Given the description of an element on the screen output the (x, y) to click on. 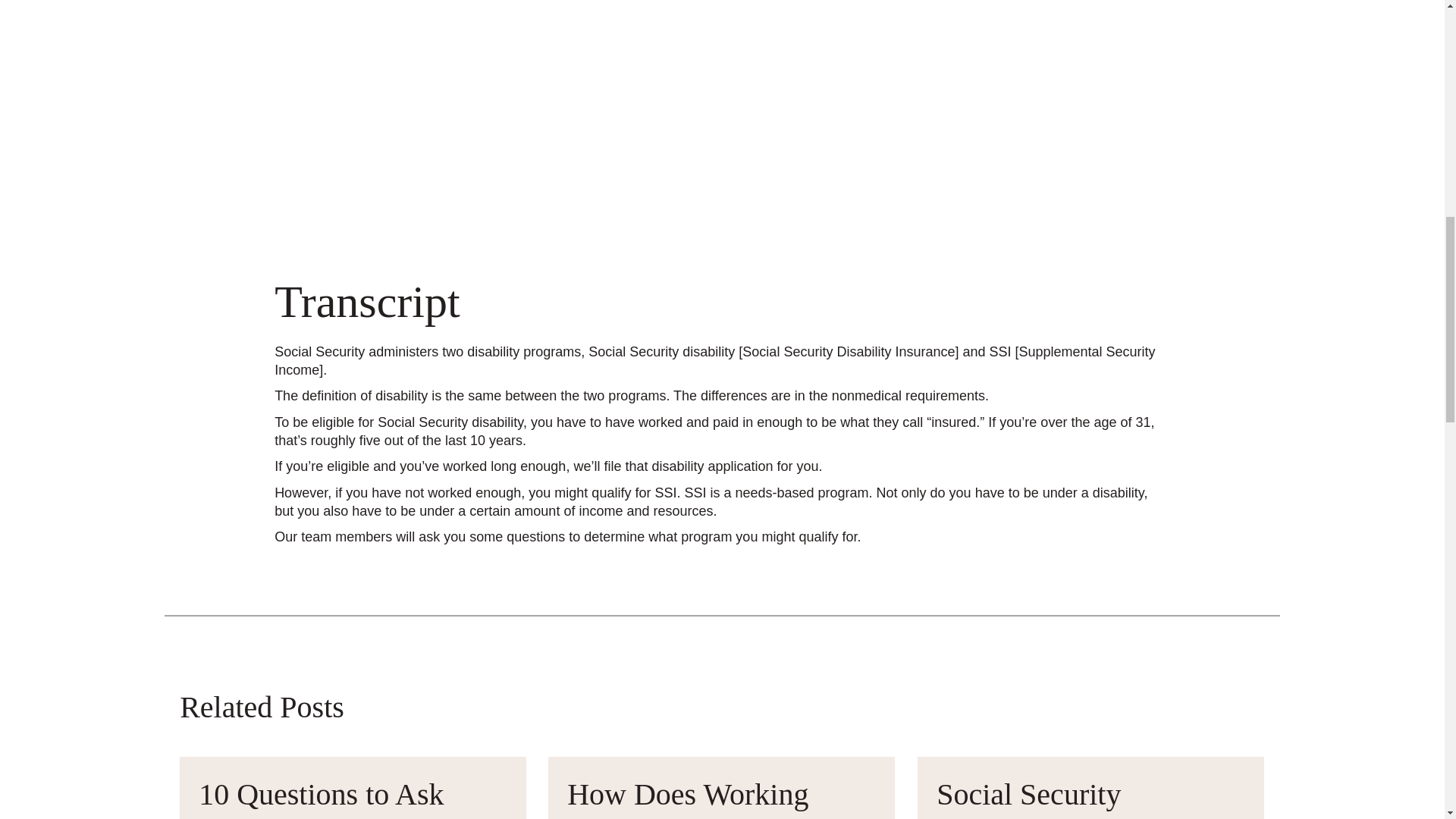
How Does Working Affect My Social Security Application? (699, 798)
10 Questions to Ask Your Social Security Disability Lawyer (323, 798)
10 Questions to Ask Your Social Security Disability Lawyer (323, 798)
How Does Working Affect My Social Security Application? (699, 798)
